Given the description of an element on the screen output the (x, y) to click on. 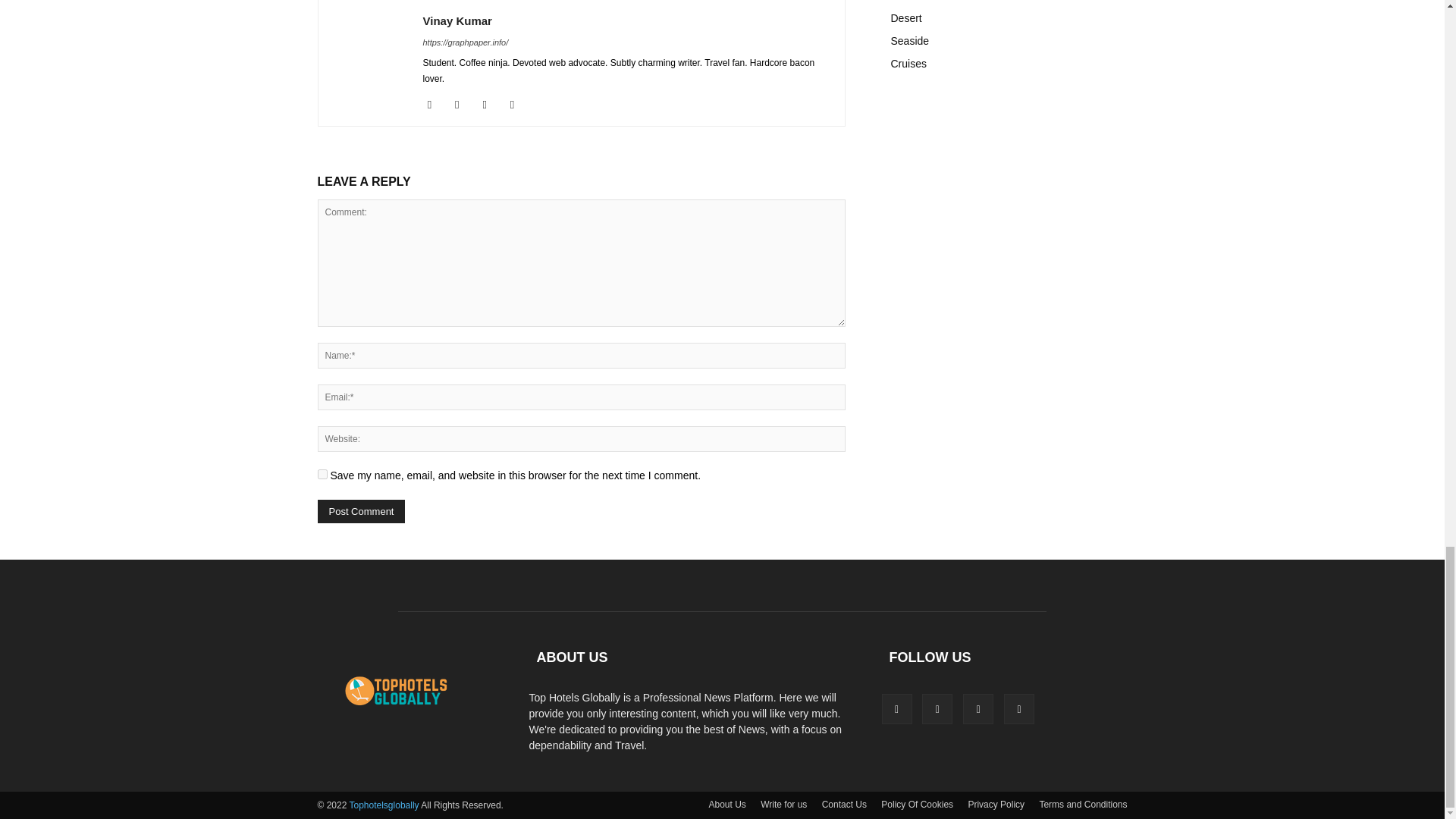
Mail (489, 104)
Linkedin (462, 104)
Facebook (435, 104)
yes (321, 474)
Twitter (518, 104)
Post Comment (360, 511)
